Given the description of an element on the screen output the (x, y) to click on. 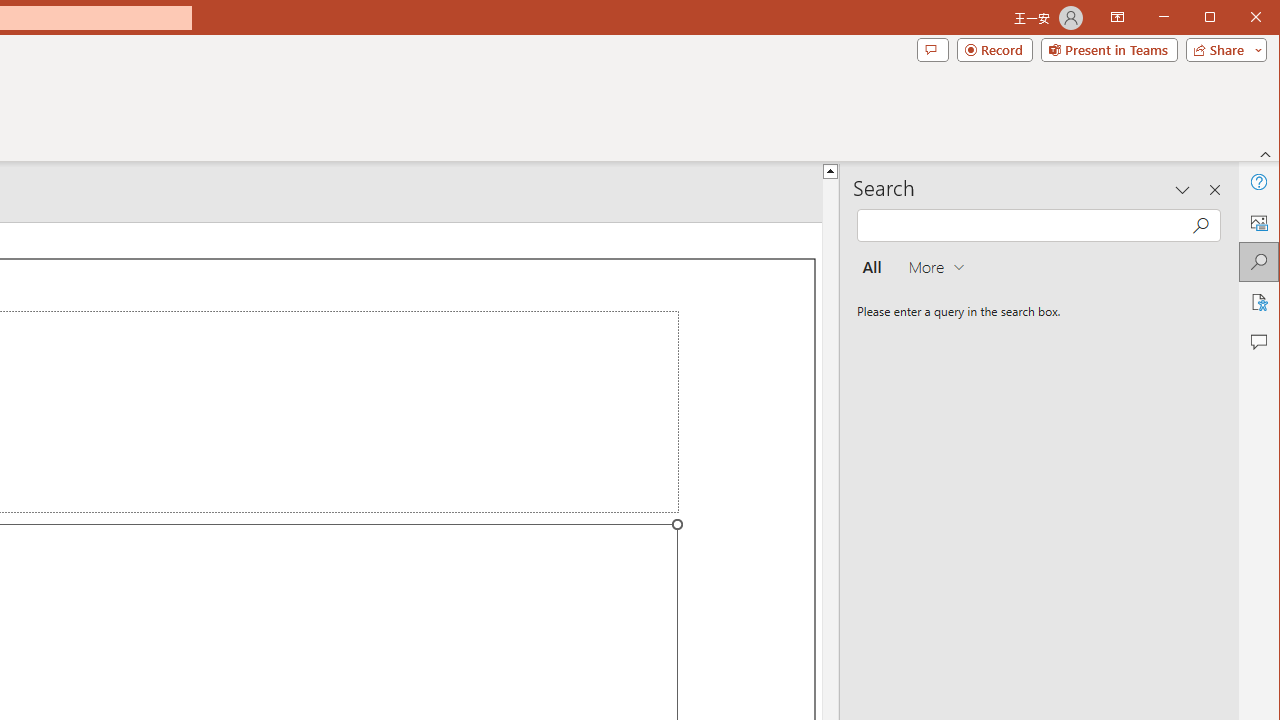
Ribbon Display Options (1117, 17)
Minimize (1216, 18)
Close (1261, 18)
